Given the description of an element on the screen output the (x, y) to click on. 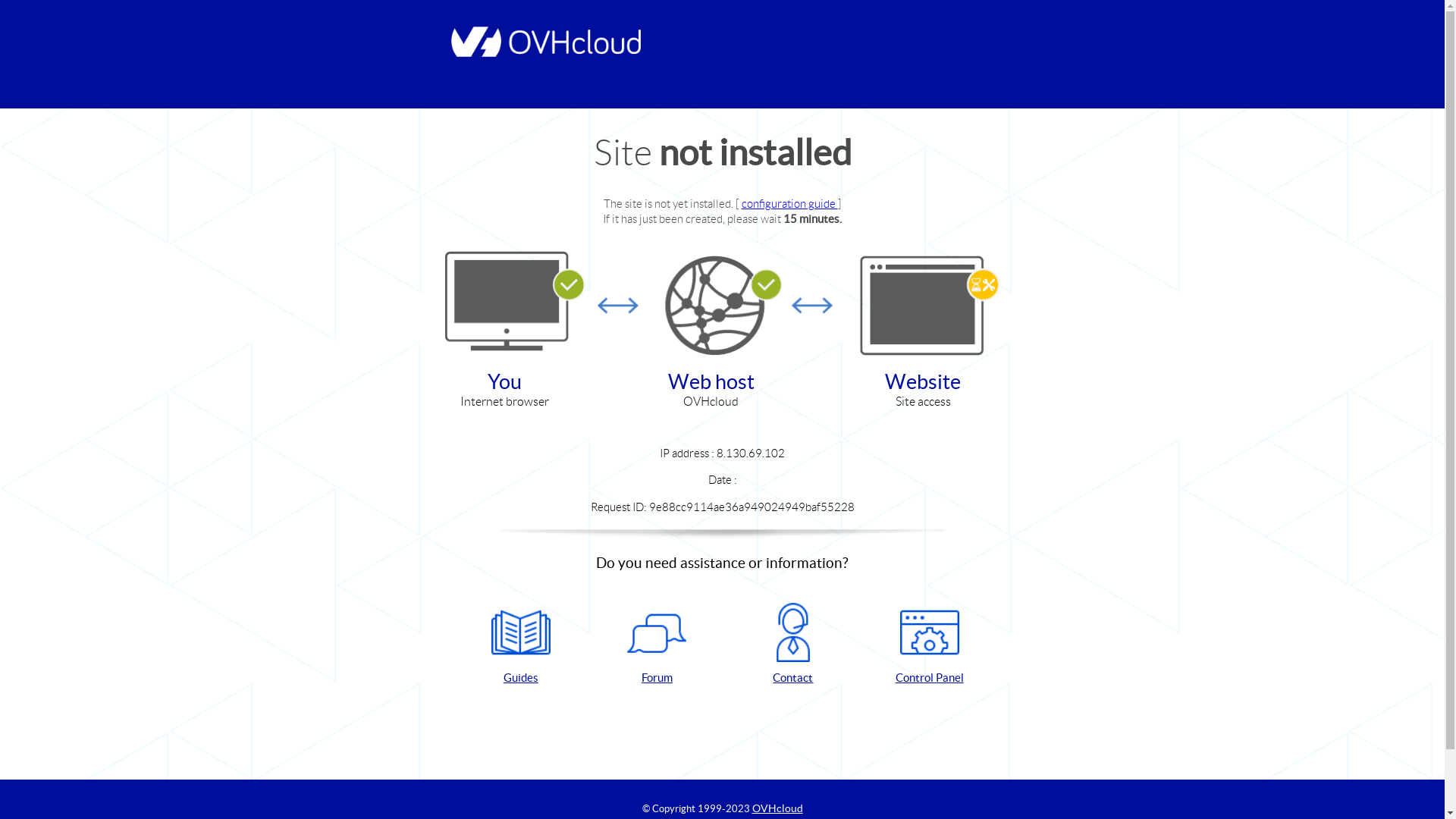
Guides Element type: text (520, 644)
OVHcloud Element type: text (777, 808)
Contact Element type: text (792, 644)
Forum Element type: text (656, 644)
Control Panel Element type: text (929, 644)
configuration guide Element type: text (789, 203)
